Given the description of an element on the screen output the (x, y) to click on. 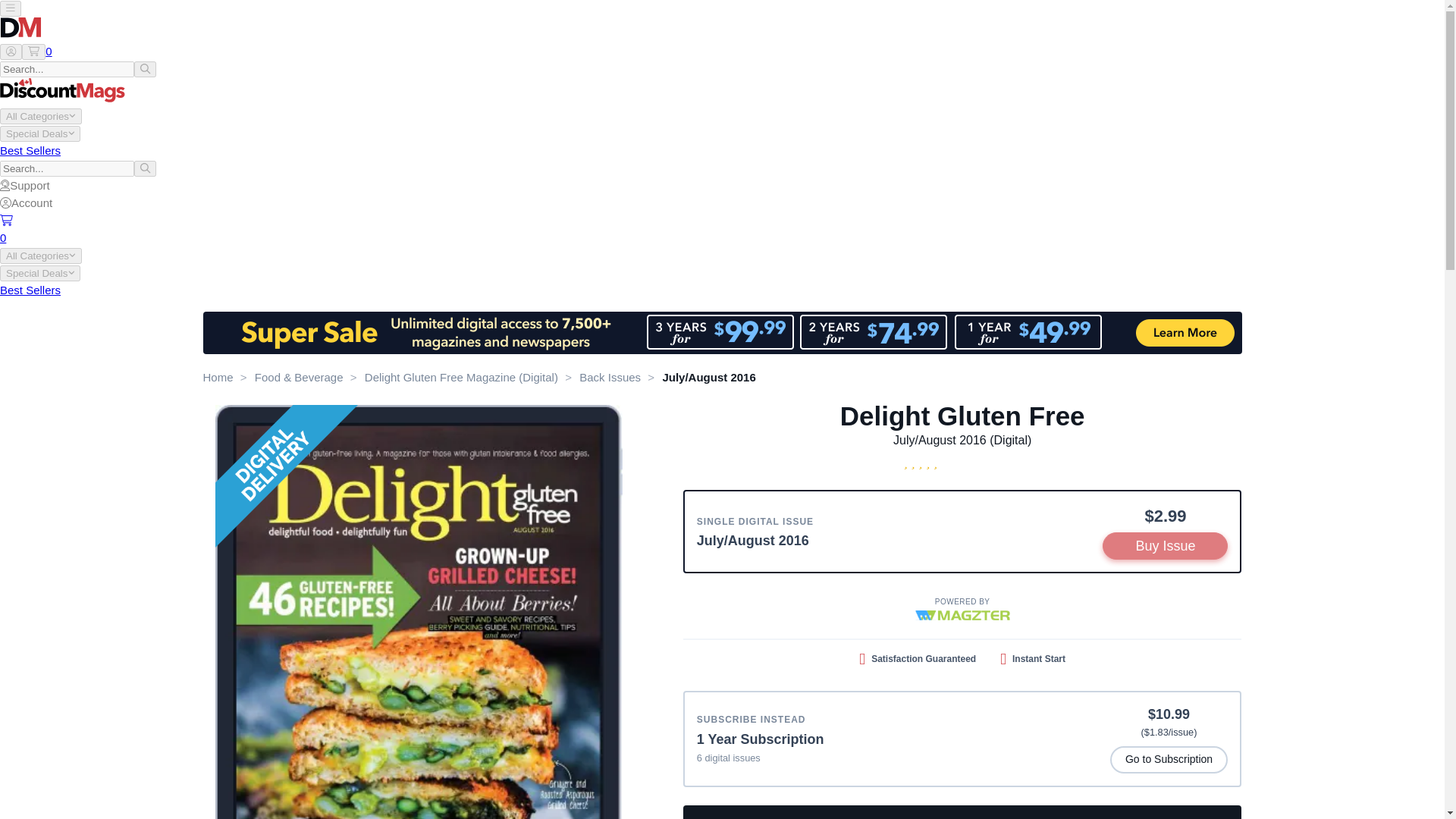
Back Issues (609, 377)
Go to Subscription (1168, 759)
Home (217, 377)
Buy Issue (1164, 545)
